Given the description of an element on the screen output the (x, y) to click on. 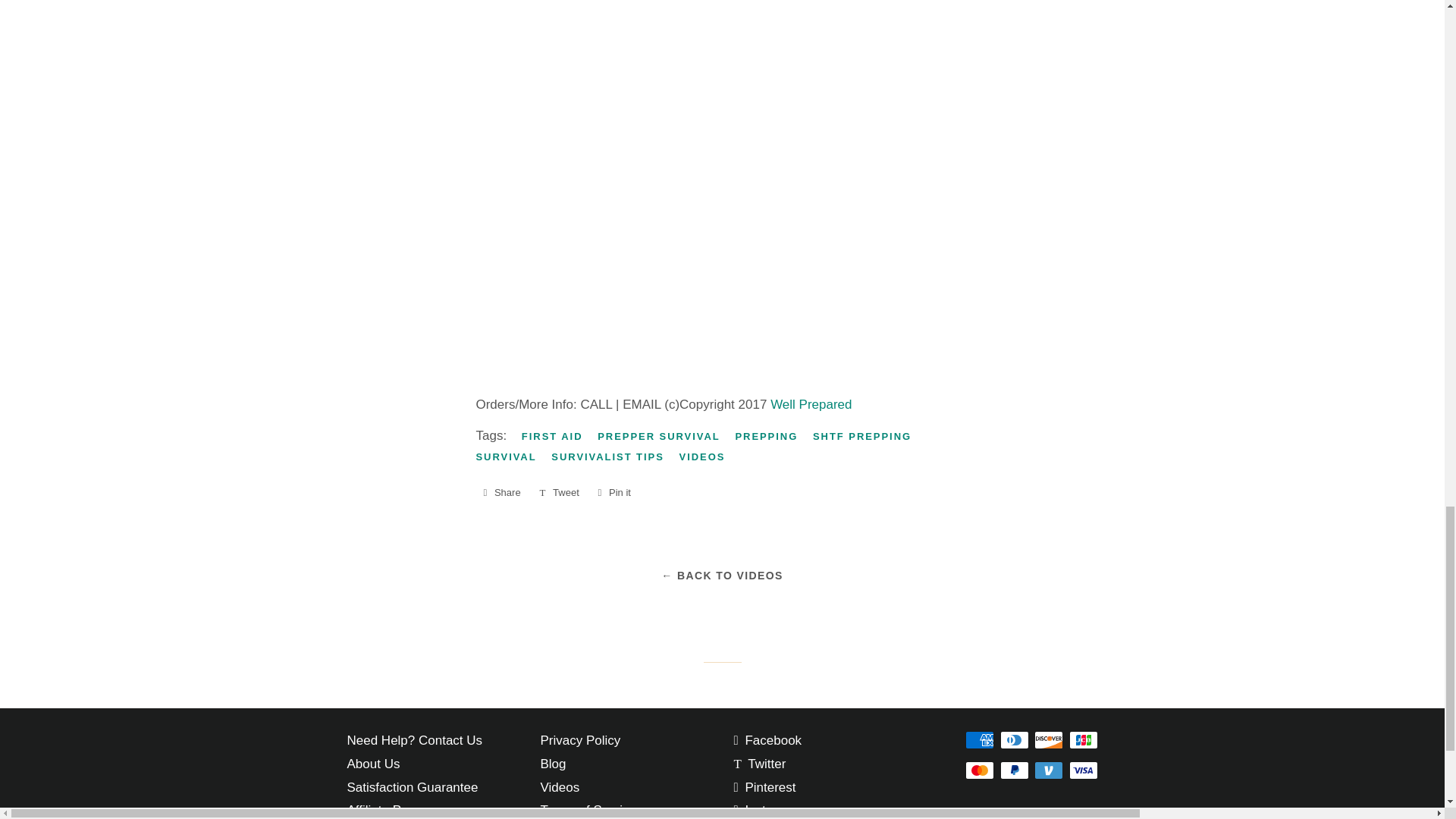
Well Prepared on Instagram (768, 810)
Tweet on Twitter (558, 492)
Well Prepared on Facebook (767, 740)
Well Prepared on Pinterest (764, 787)
Share on Facebook (501, 492)
Diners Club (1012, 740)
Venmo (1047, 770)
Mastercard (979, 770)
JCB (1082, 740)
PayPal (1012, 770)
